Given the description of an element on the screen output the (x, y) to click on. 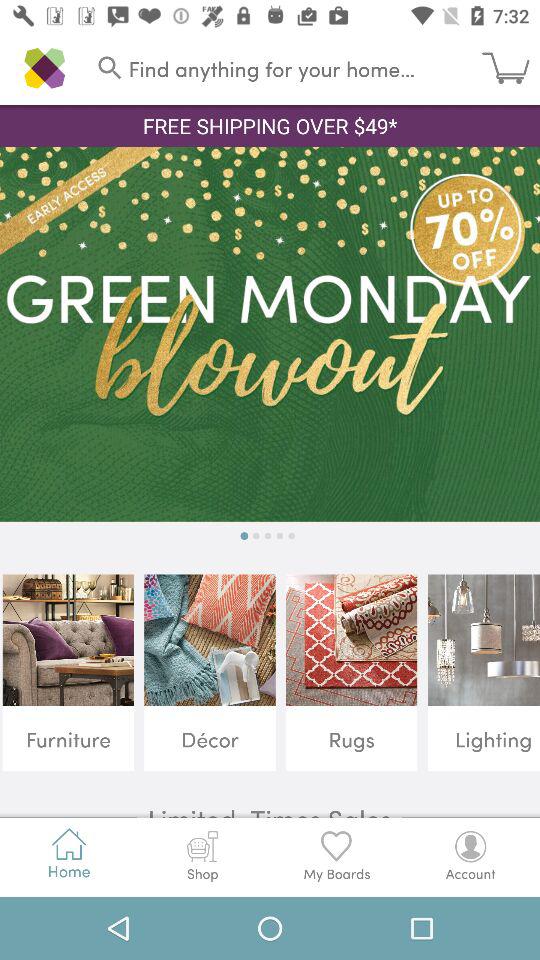
turn off icon to the right of find anything for (511, 68)
